Given the description of an element on the screen output the (x, y) to click on. 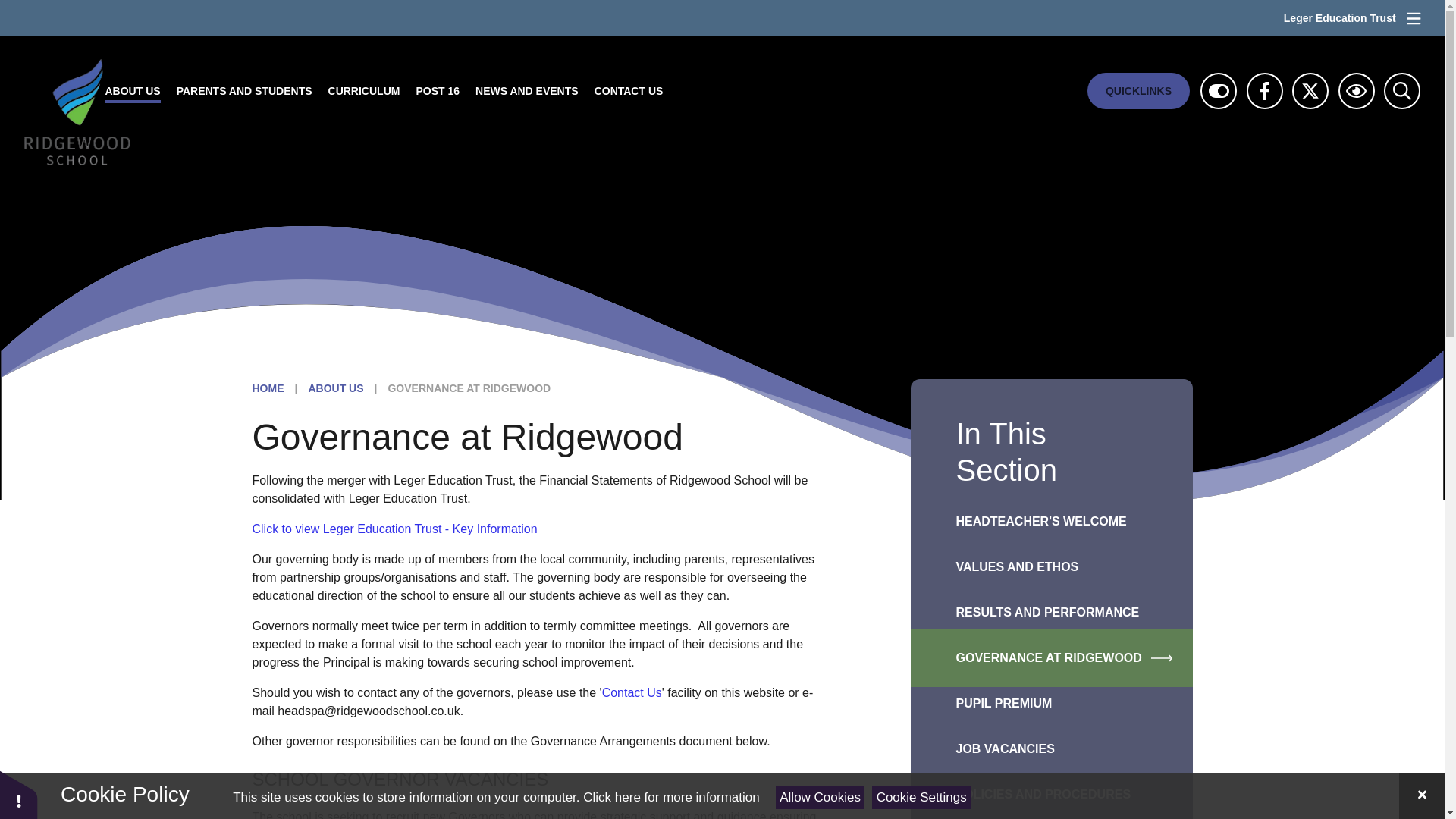
See cookie policy (670, 797)
Allow Cookies (820, 797)
ABOUT US (132, 90)
Cookie Settings (921, 797)
